Given the description of an element on the screen output the (x, y) to click on. 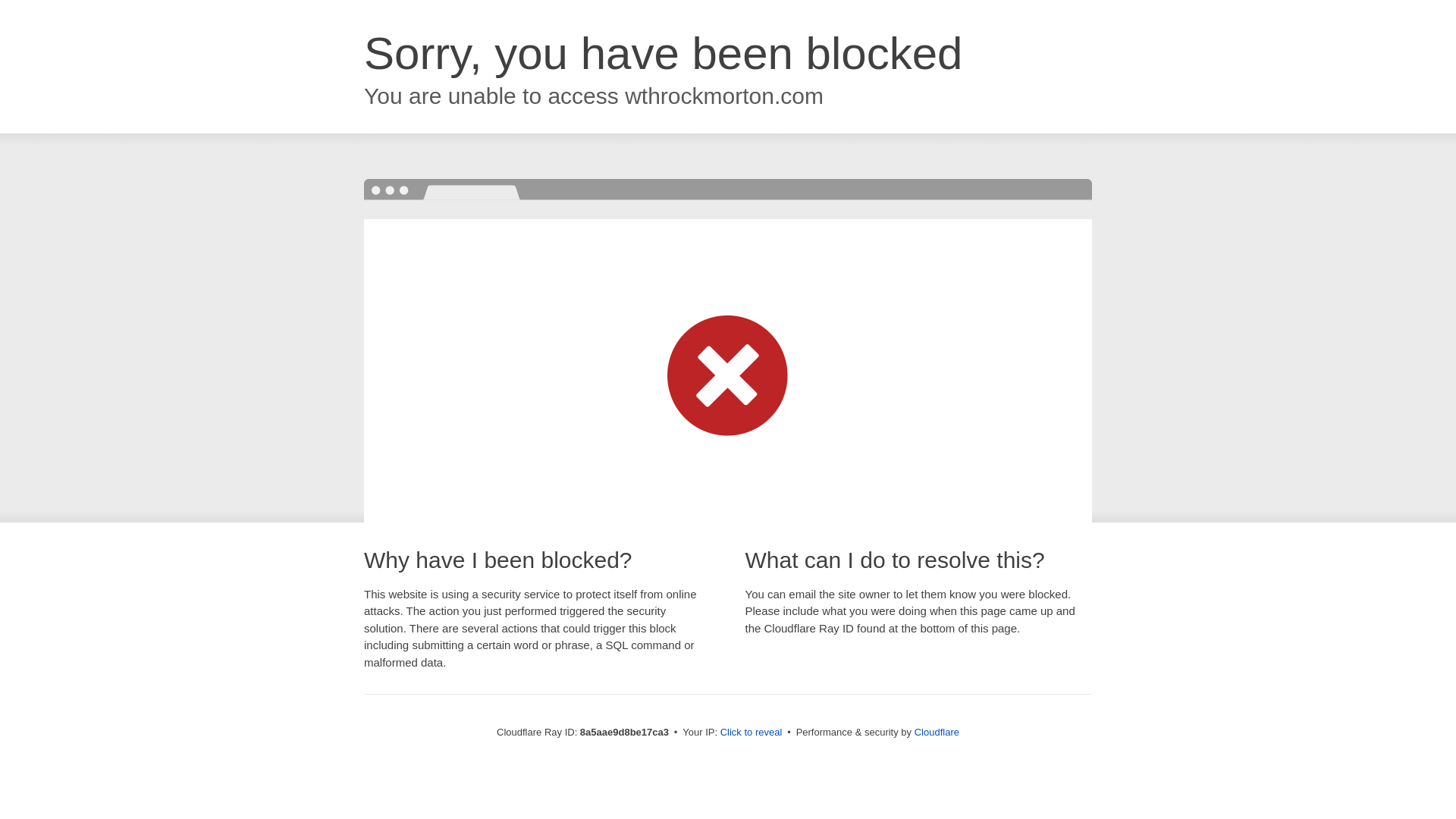
Click to reveal (751, 732)
Cloudflare (936, 731)
